Given the description of an element on the screen output the (x, y) to click on. 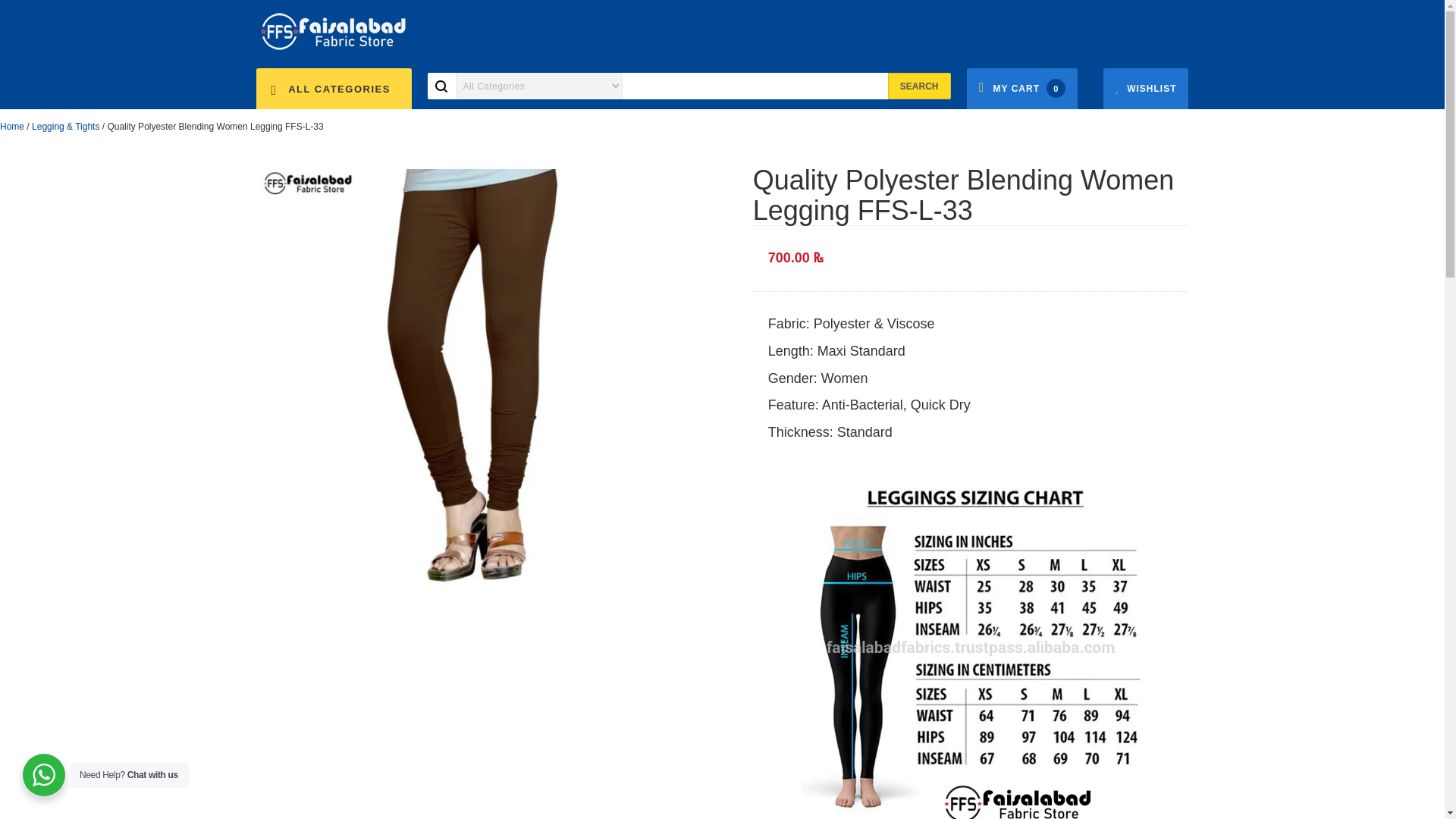
My Wishlist (1145, 88)
Search (919, 85)
